Given the description of an element on the screen output the (x, y) to click on. 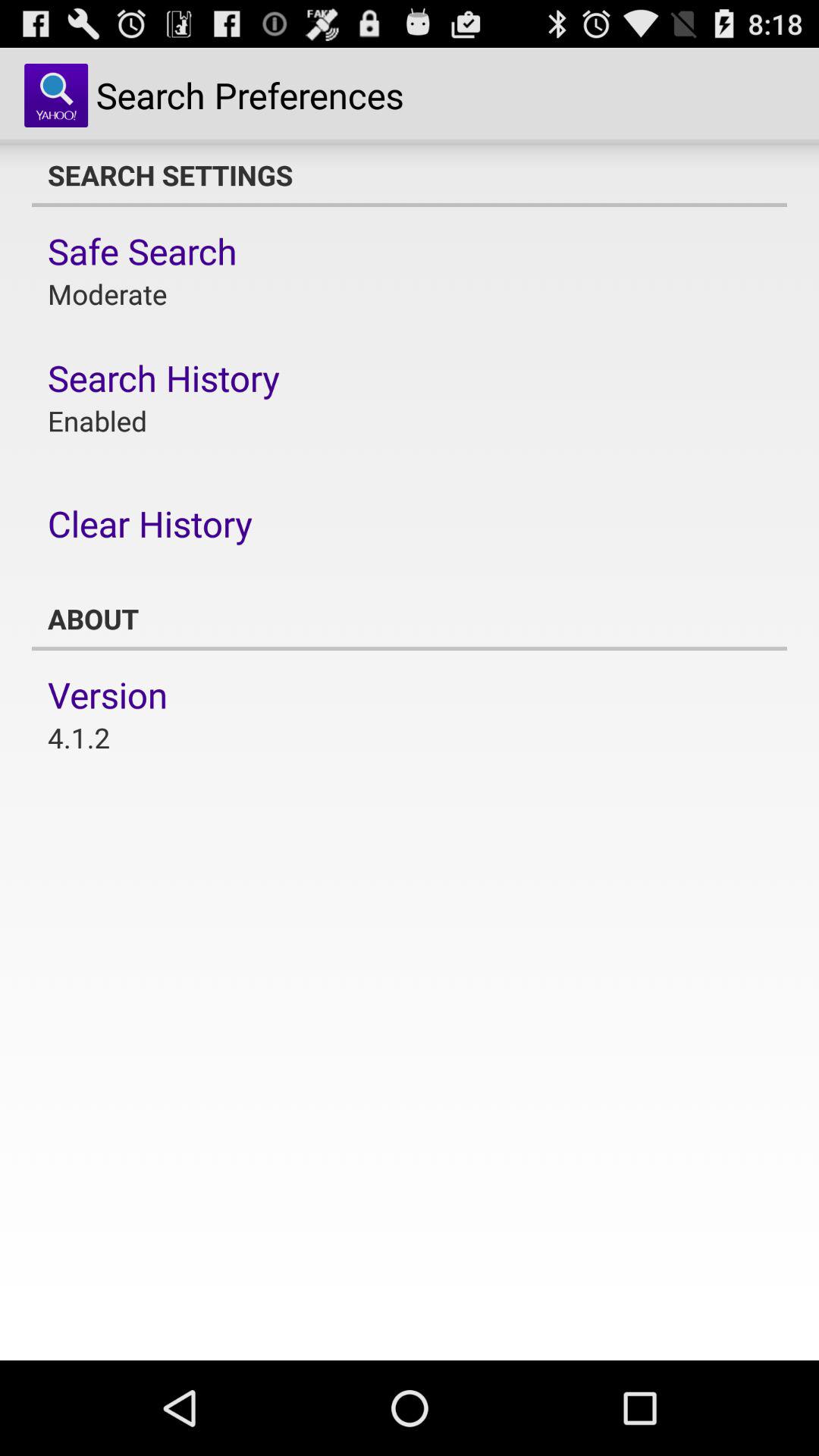
scroll to the safe search app (142, 250)
